Given the description of an element on the screen output the (x, y) to click on. 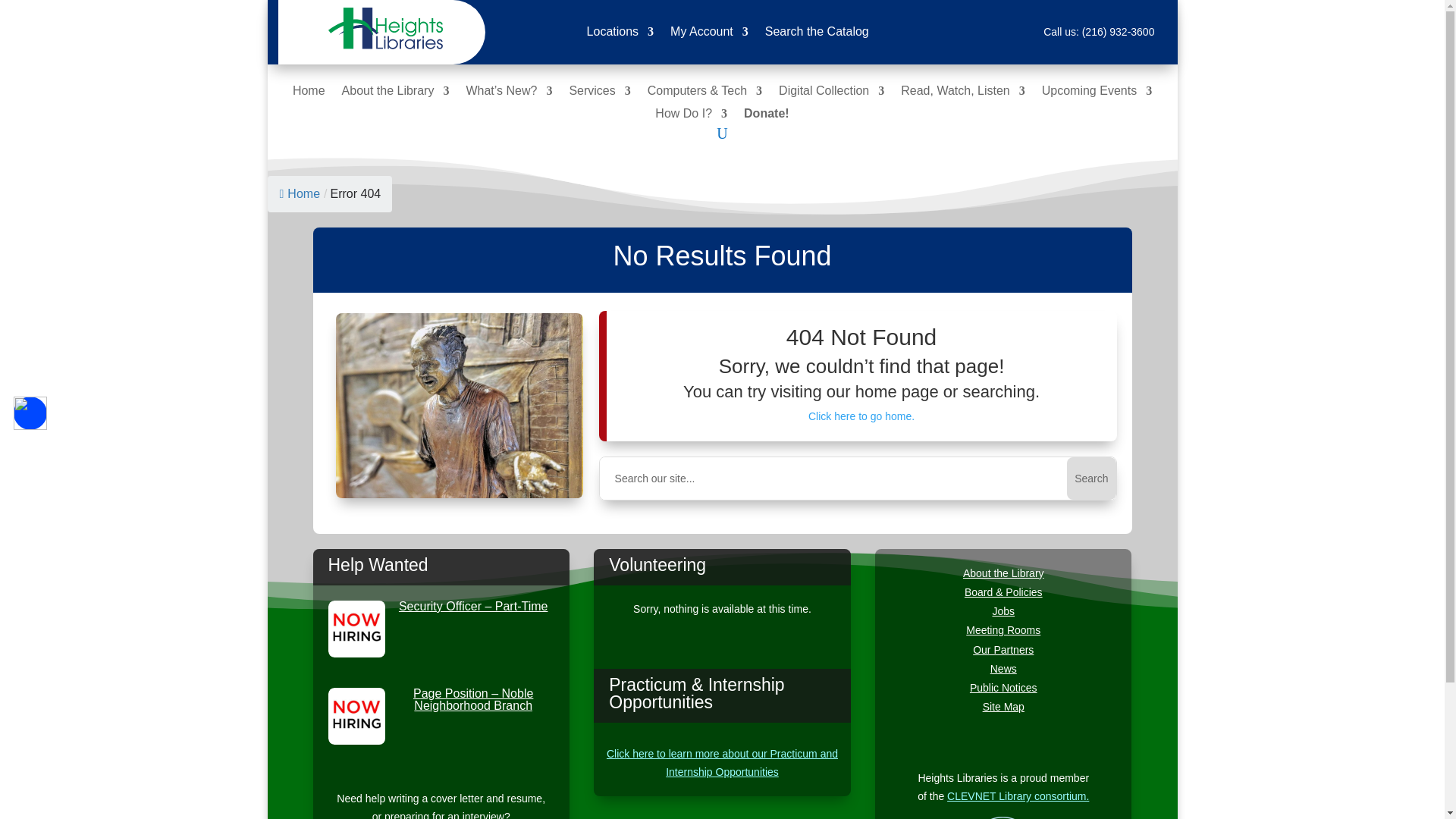
Locations (619, 34)
Search (1091, 478)
My Account (708, 34)
About the Library (395, 93)
Search the Catalog (817, 34)
Search (1091, 478)
Accessibility Menu (29, 412)
harvey-shrug (459, 404)
Home (308, 93)
